Given the description of an element on the screen output the (x, y) to click on. 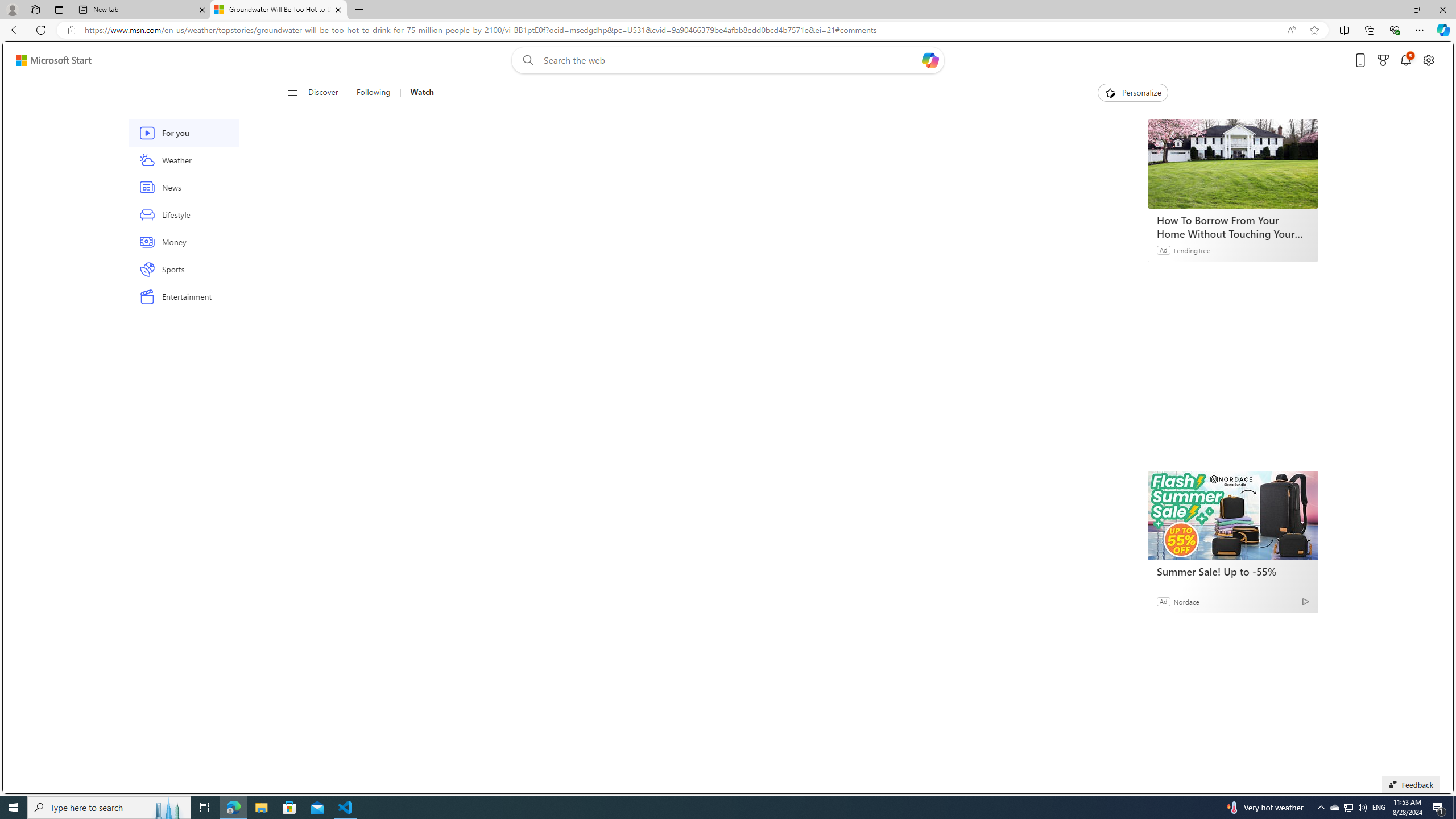
How To Borrow From Your Home Without Touching Your Mortgage (1232, 226)
Skip to footer (46, 59)
Class: button-glyph (292, 92)
Enter your search term (730, 59)
